Given the description of an element on the screen output the (x, y) to click on. 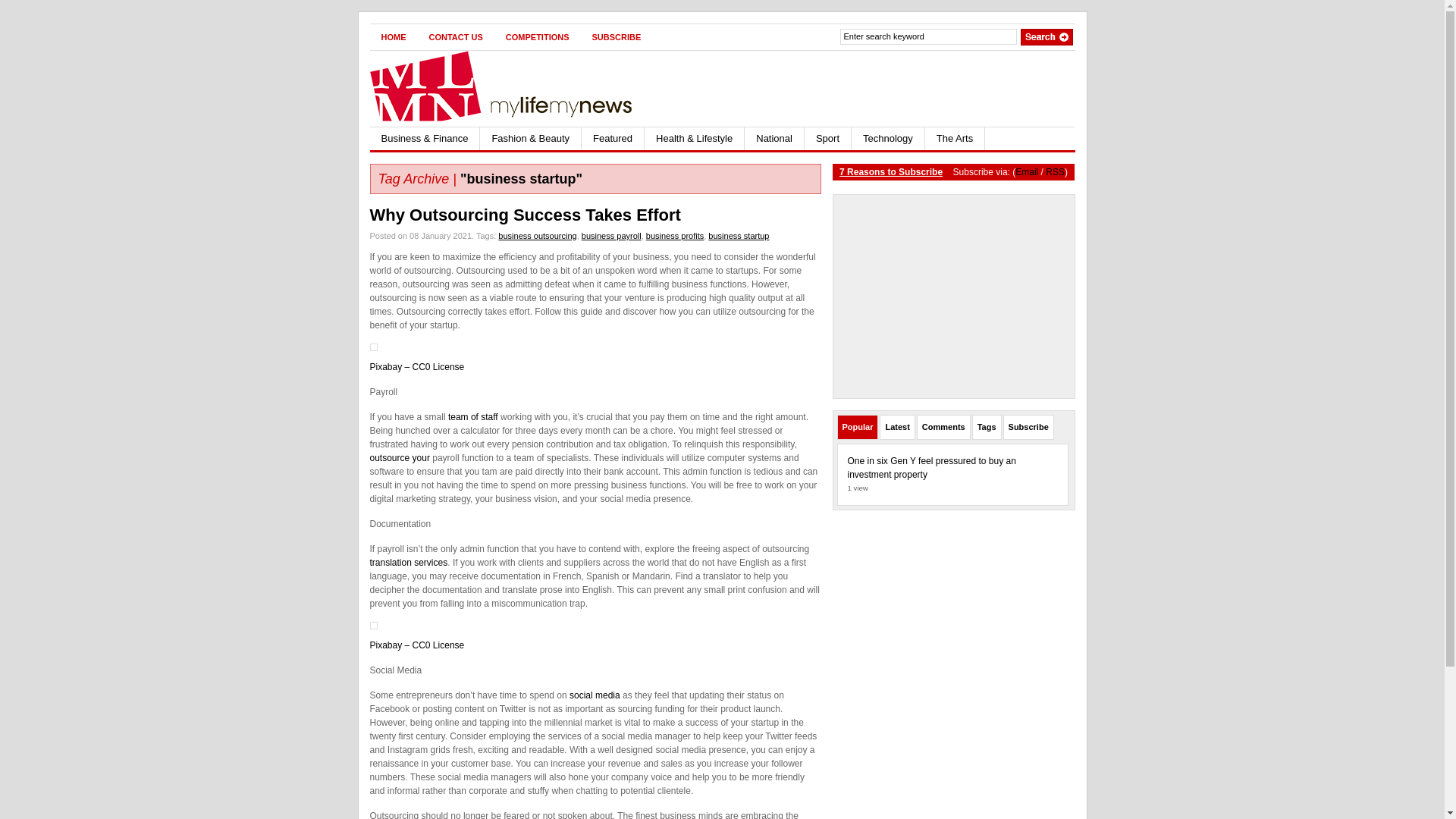
7 Reasons to Subscribe Element type: text (890, 171)
Advertisement Element type: hover (897, 88)
SUBSCRIBE Element type: text (616, 36)
Enter search keyword Element type: text (928, 36)
COMPETITIONS Element type: text (537, 36)
CONTACT US Element type: text (455, 36)
business outsourcing Element type: text (537, 235)
Technology Element type: text (888, 138)
My Life My News Element type: hover (517, 85)
social media Element type: text (594, 695)
team of staff Element type: text (473, 416)
Health & Lifestyle Element type: text (694, 138)
translation services Element type: text (409, 562)
Comments Element type: text (943, 427)
RSS Element type: text (1054, 171)
outsource your Element type: text (399, 457)
Why Outsourcing Success Takes Effort Element type: text (525, 214)
HOME Element type: text (393, 36)
Latest Element type: text (896, 427)
Business & Finance Element type: text (425, 138)
Advertisement Element type: hover (953, 296)
business payroll Element type: text (611, 235)
business profits Element type: text (674, 235)
Subscribe Element type: text (1028, 427)
business startup Element type: text (738, 235)
Sport Element type: text (827, 138)
Tags Element type: text (986, 427)
National Element type: text (774, 138)
Featured Element type: text (612, 138)
Popular Element type: text (857, 427)
Fashion & Beauty Element type: text (530, 138)
The Arts Element type: text (955, 138)
Email Element type: text (1026, 171)
